Given the description of an element on the screen output the (x, y) to click on. 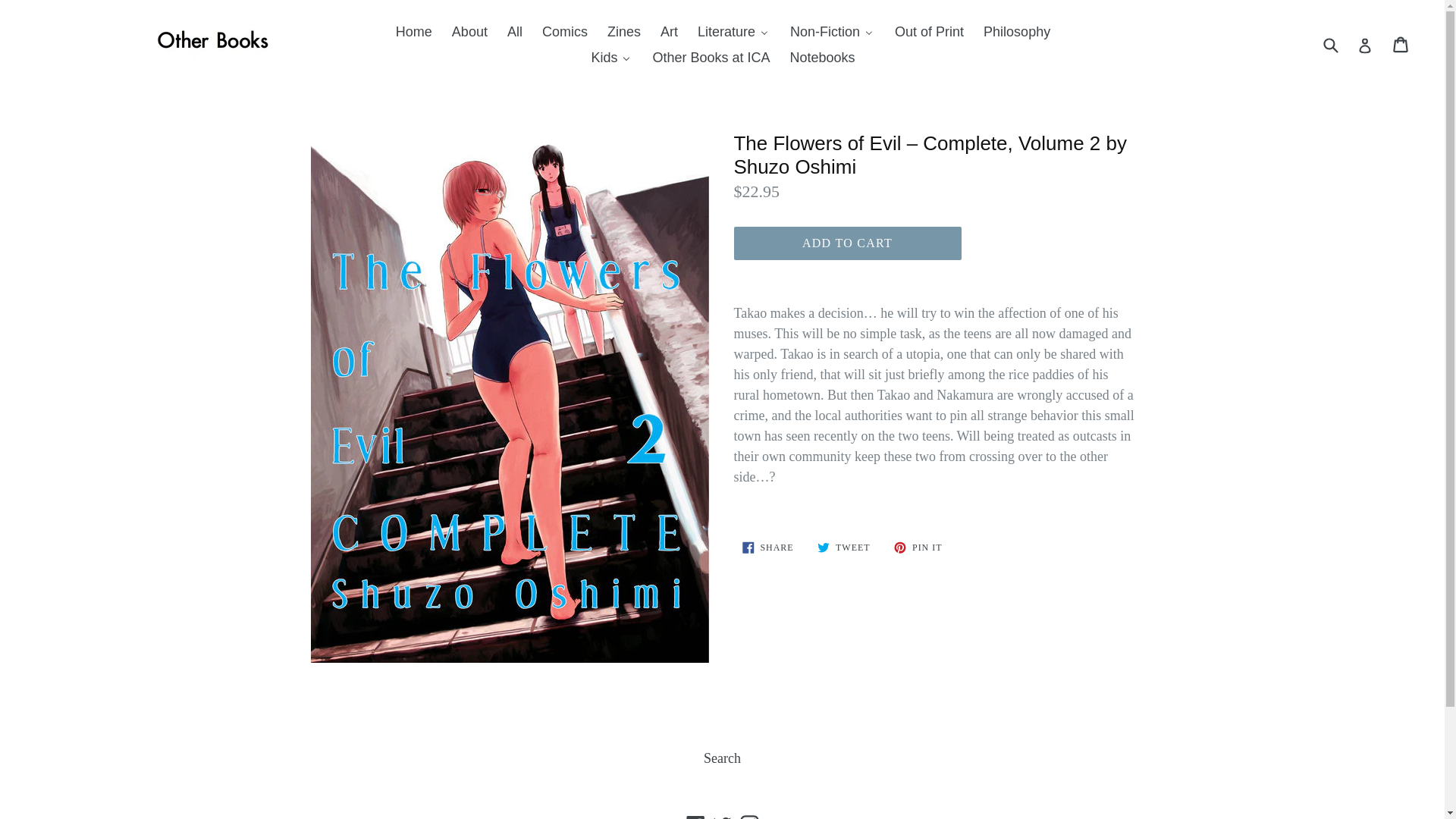
other books on Twitter (721, 816)
other books on Instagram (748, 816)
Tweet on Twitter (843, 547)
other books on Facebook (695, 816)
Share on Facebook (767, 547)
Pin on Pinterest (917, 547)
